Given the description of an element on the screen output the (x, y) to click on. 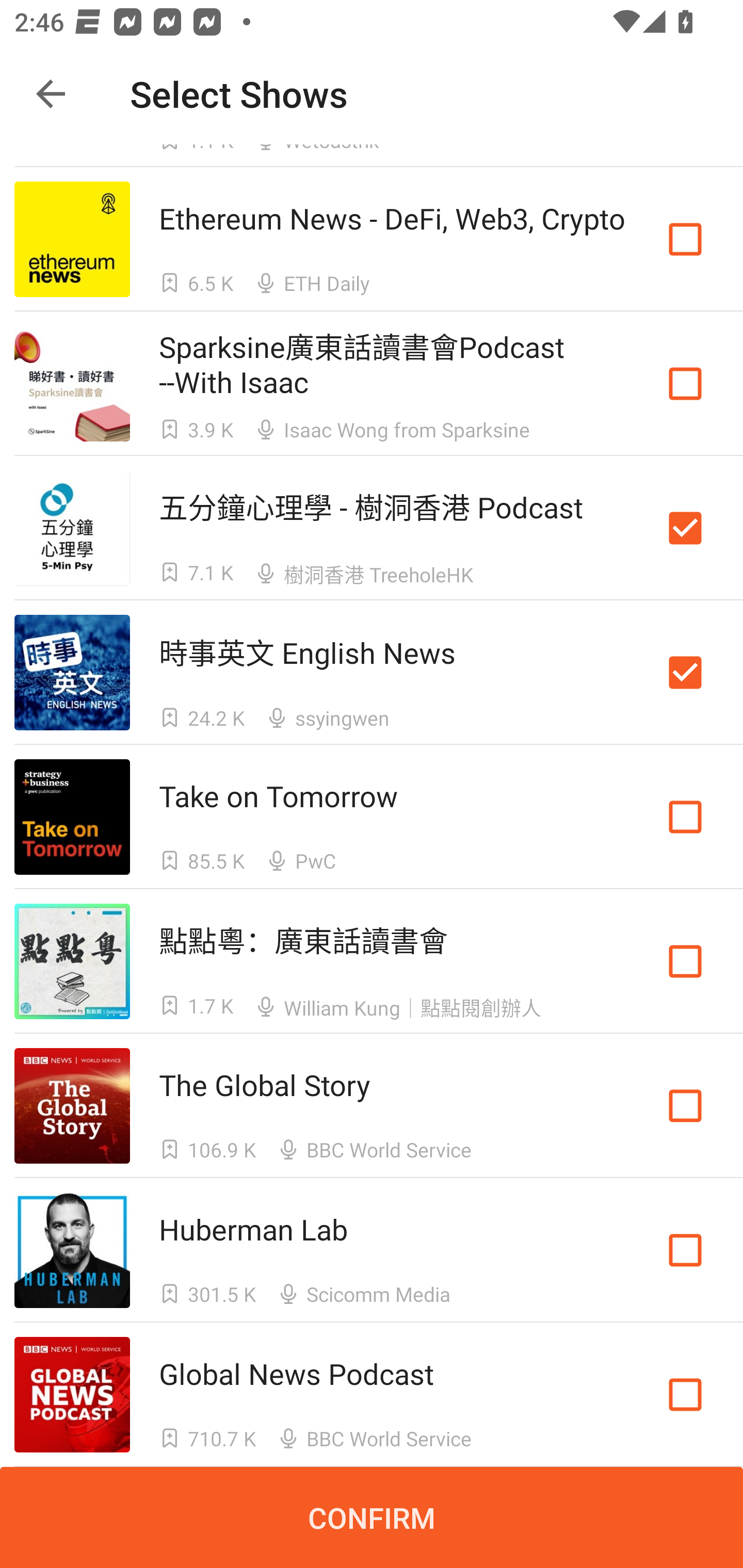
Navigate up (50, 93)
Take on Tomorrow Take on Tomorrow  85.5 K  PwC (371, 816)
CONFIRM (371, 1517)
